Given the description of an element on the screen output the (x, y) to click on. 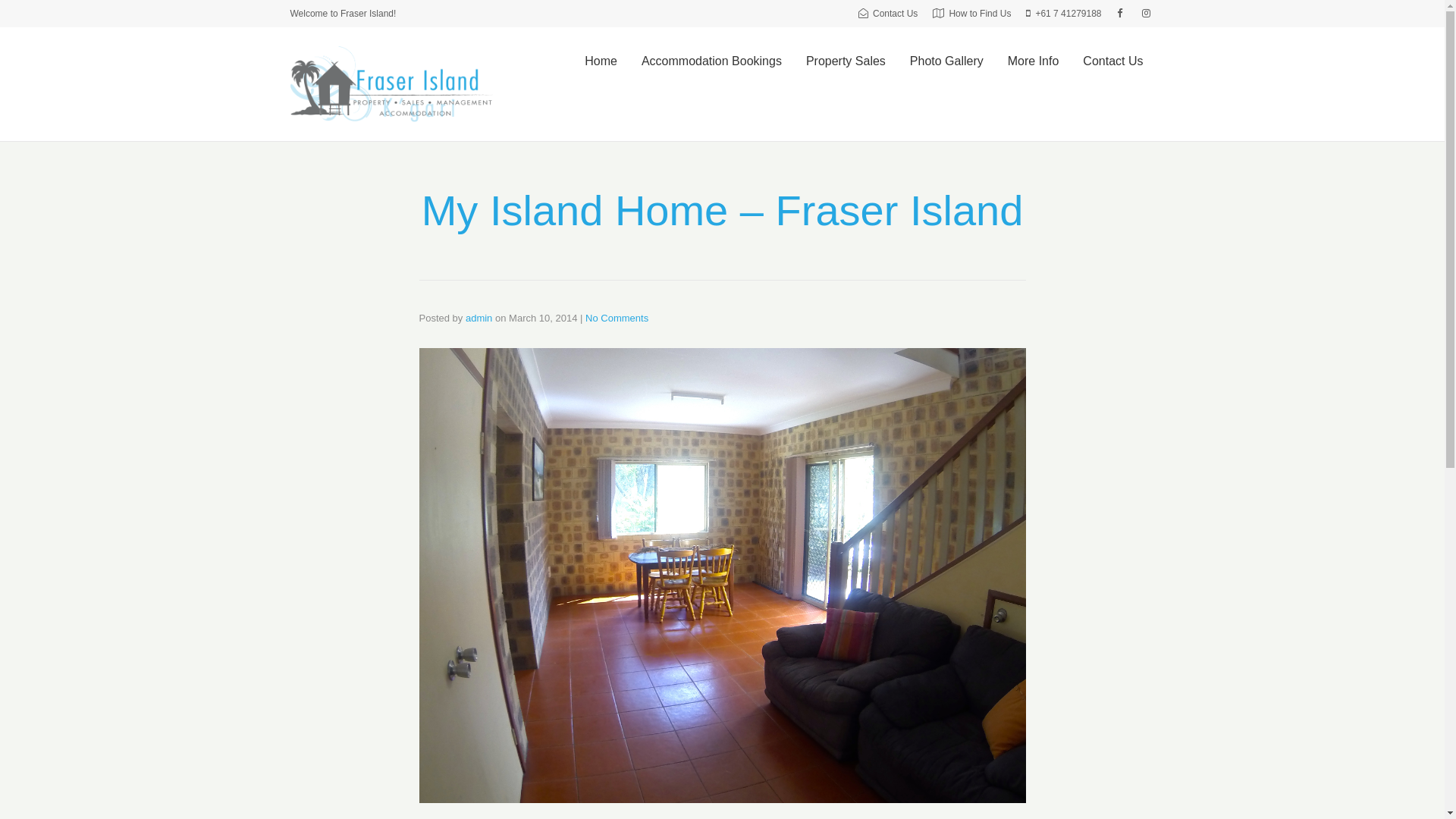
Property Sales Element type: text (845, 61)
No Comments Element type: text (616, 317)
Contact Us Element type: text (887, 13)
admin Element type: text (478, 317)
Contact Us Element type: text (1112, 61)
Photo Gallery Element type: text (946, 61)
How to Find Us Element type: text (971, 13)
Home Element type: text (600, 61)
Accommodation Bookings Element type: text (711, 61)
More Info Element type: text (1033, 61)
+61 7 41279188 Element type: text (1063, 13)
